Given the description of an element on the screen output the (x, y) to click on. 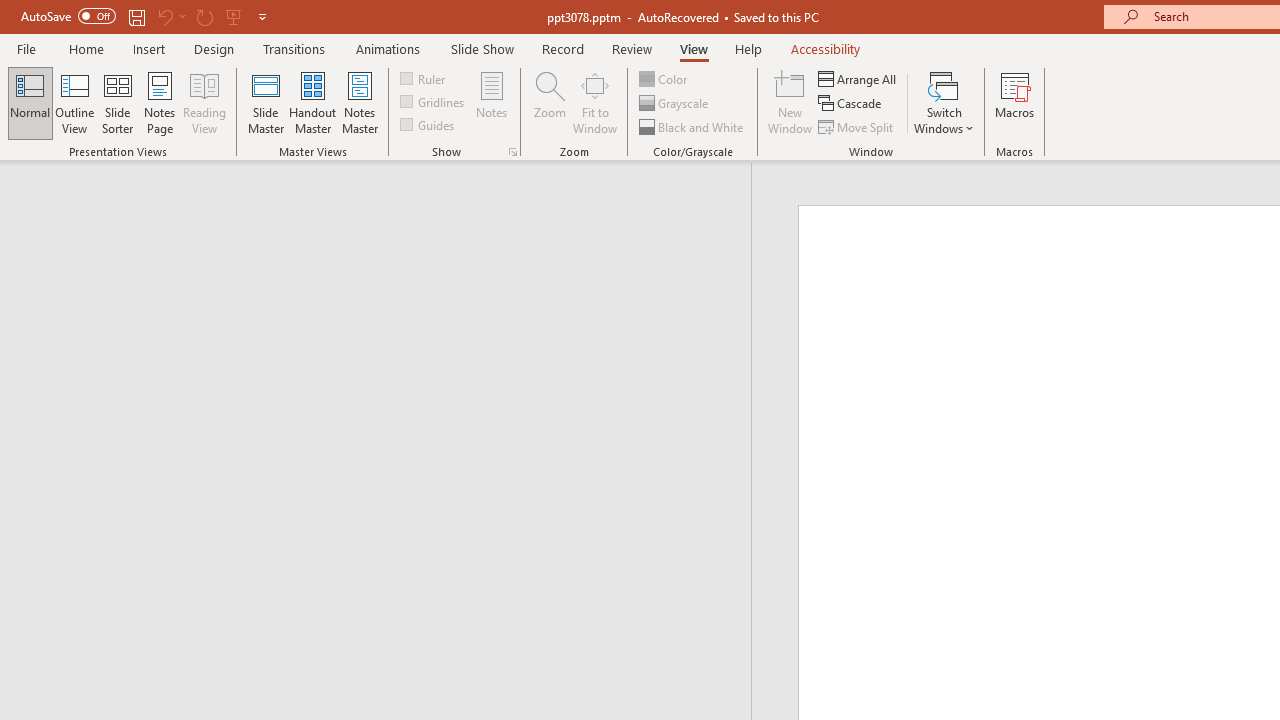
Cascade (851, 103)
Gridlines (433, 101)
Zoom... (549, 102)
Outline View (74, 102)
Color (664, 78)
